Given the description of an element on the screen output the (x, y) to click on. 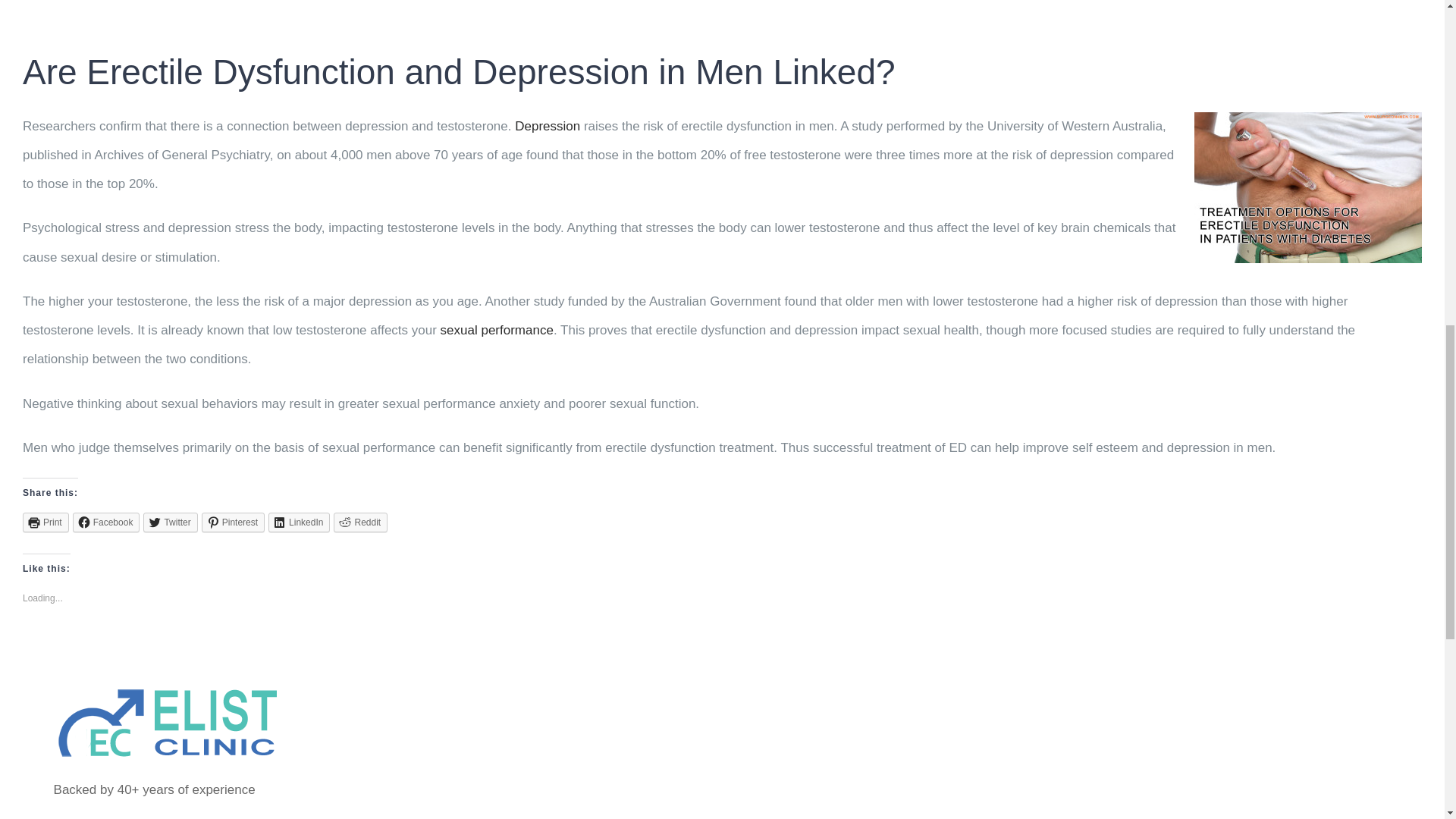
Sexual Health Concerns and Problems (497, 329)
LinkedIn (298, 522)
Facebook (105, 522)
Click to share on Reddit (360, 522)
Depression (547, 124)
Click to print (45, 522)
Click to share on LinkedIn (298, 522)
Print (45, 522)
Click to share on Facebook (105, 522)
Click to share on Pinterest (233, 522)
Click to share on Twitter (169, 522)
Depression (547, 124)
sexual performance (497, 329)
Twitter (169, 522)
Pinterest (233, 522)
